Given the description of an element on the screen output the (x, y) to click on. 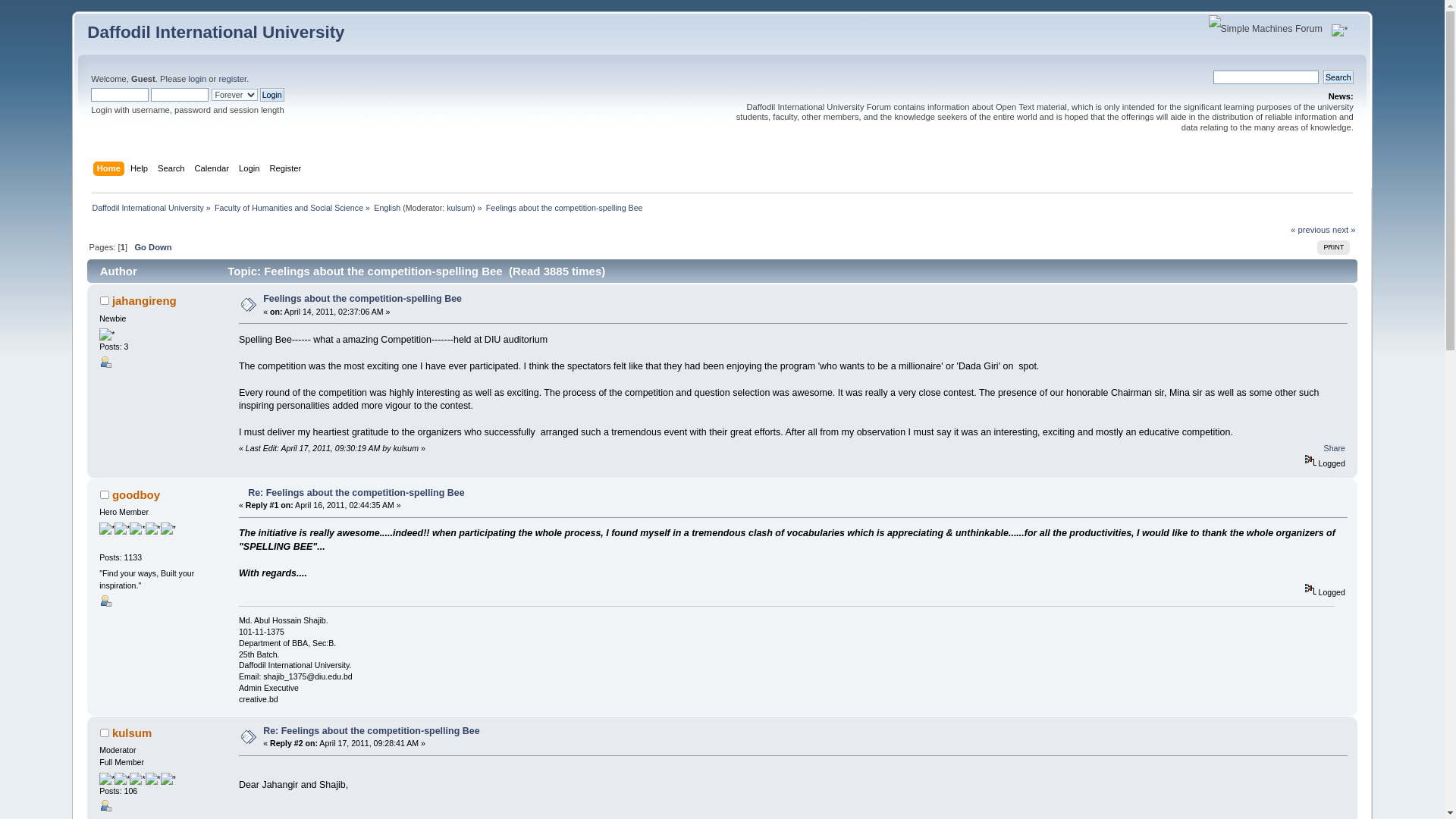
Search (1338, 77)
goodboy (136, 494)
Help (141, 169)
Go Down (152, 246)
register (232, 78)
Login (250, 169)
Shrink or expand the header. (1340, 30)
Share (1334, 447)
Search (173, 169)
kulsum (458, 207)
